Given the description of an element on the screen output the (x, y) to click on. 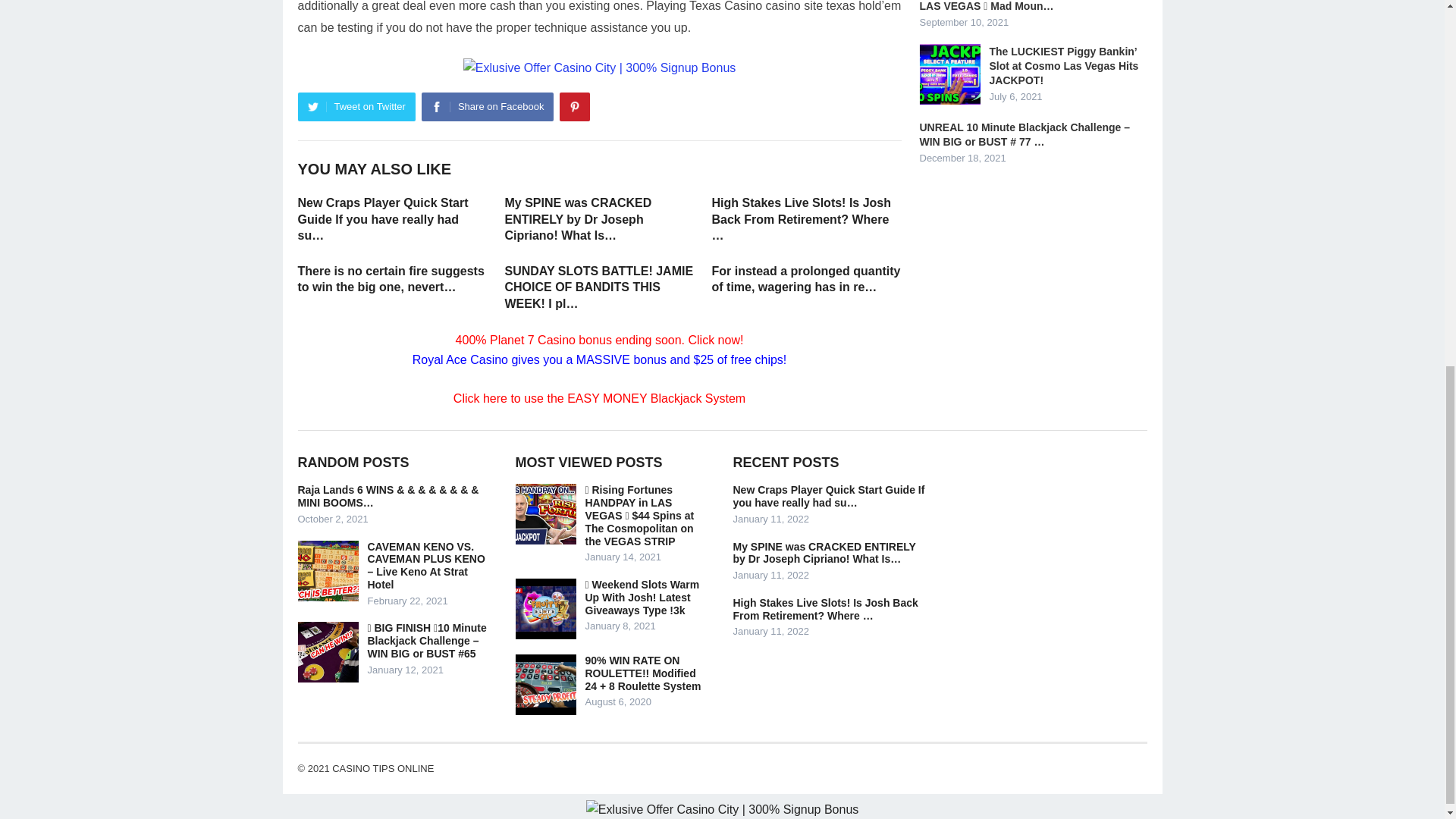
Click here to use the EASY MONEY Blackjack System (598, 398)
Tweet on Twitter (355, 106)
Share on Facebook (487, 106)
Pinterest (574, 106)
